Given the description of an element on the screen output the (x, y) to click on. 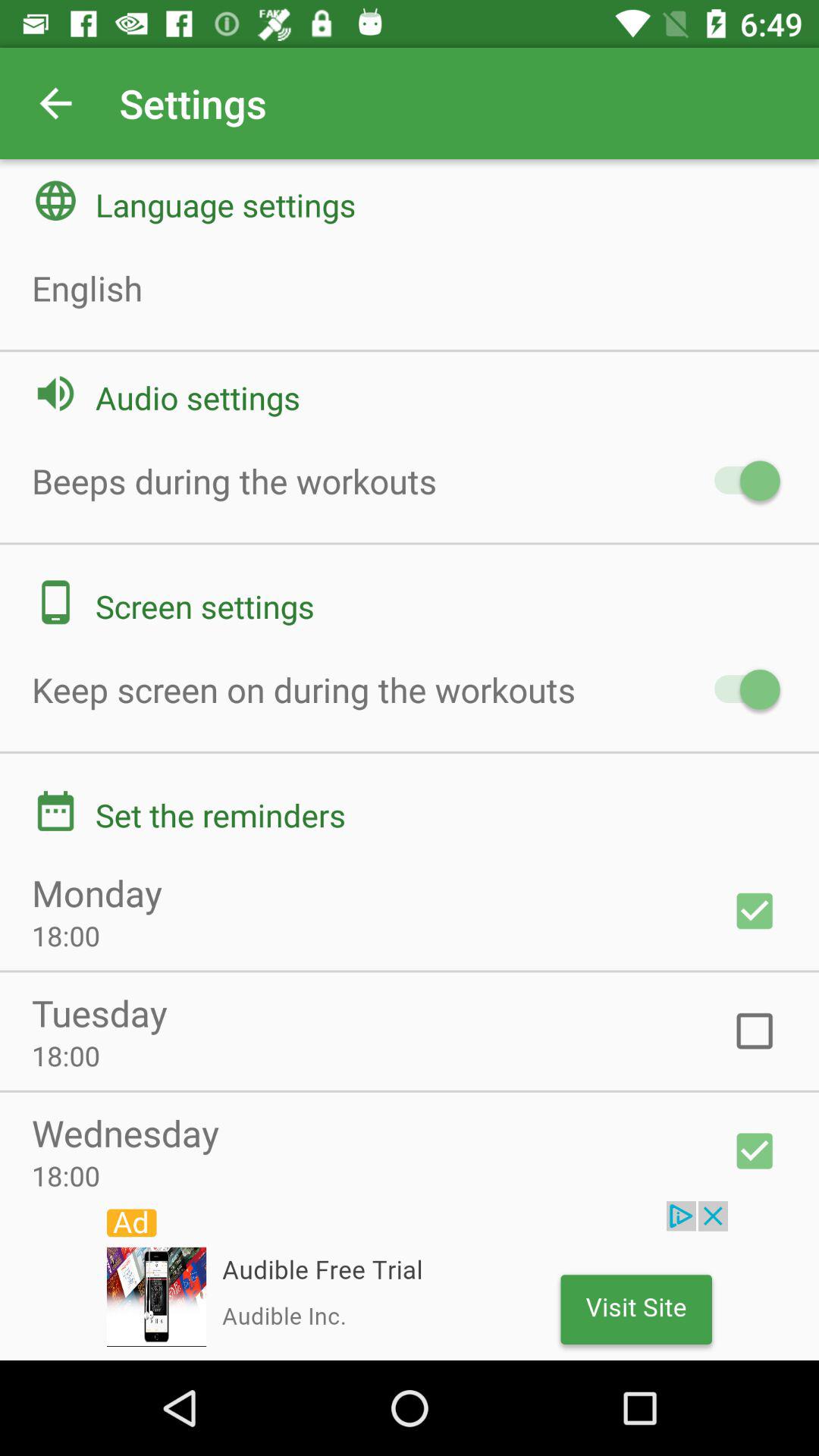
go to tick option (754, 910)
